Given the description of an element on the screen output the (x, y) to click on. 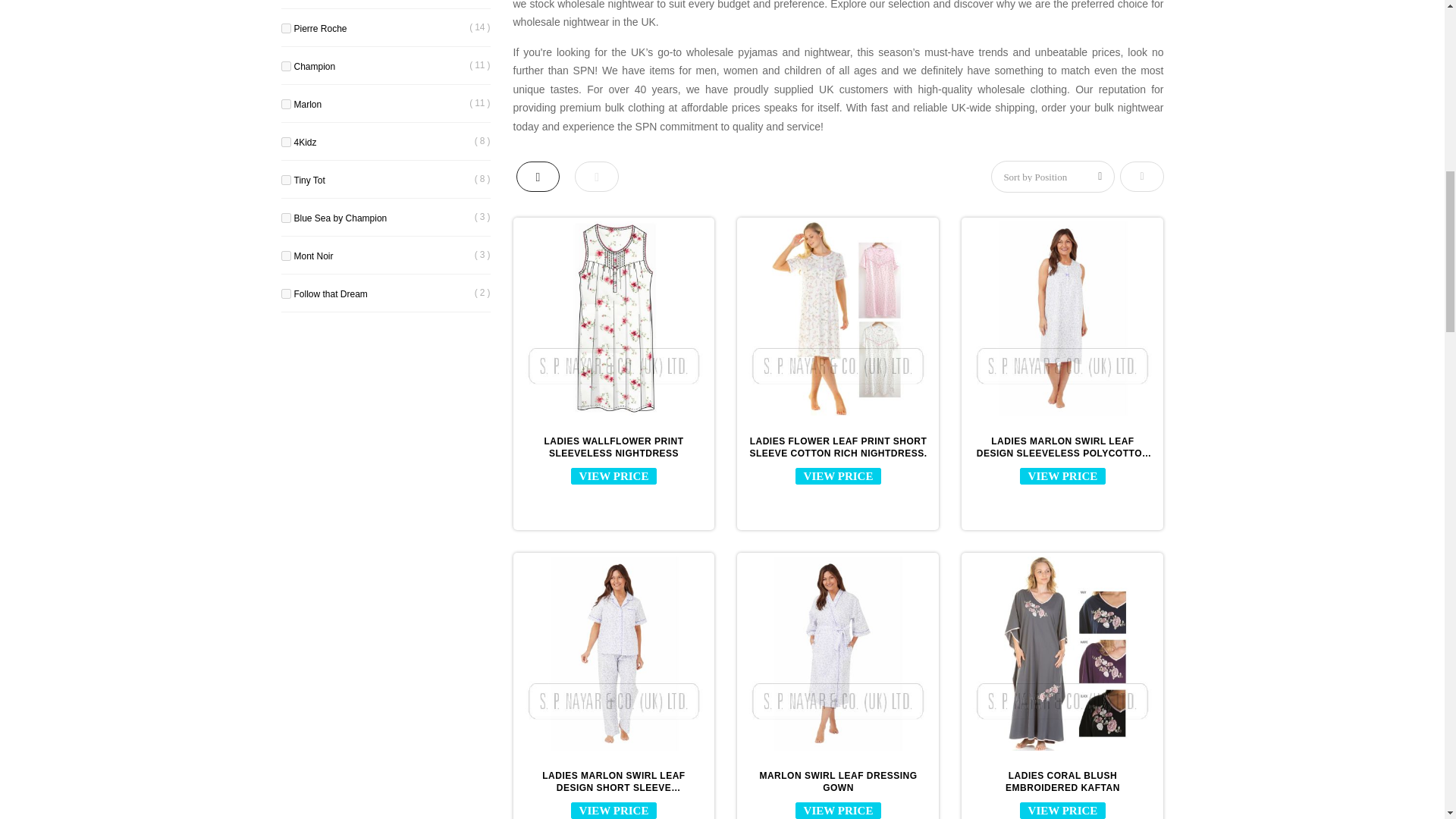
on (285, 66)
on (285, 142)
List (596, 176)
on (285, 293)
on (285, 255)
on (285, 180)
on (285, 28)
on (285, 217)
Set Descending Direction (1141, 176)
on (285, 103)
Grid (537, 176)
